Given the description of an element on the screen output the (x, y) to click on. 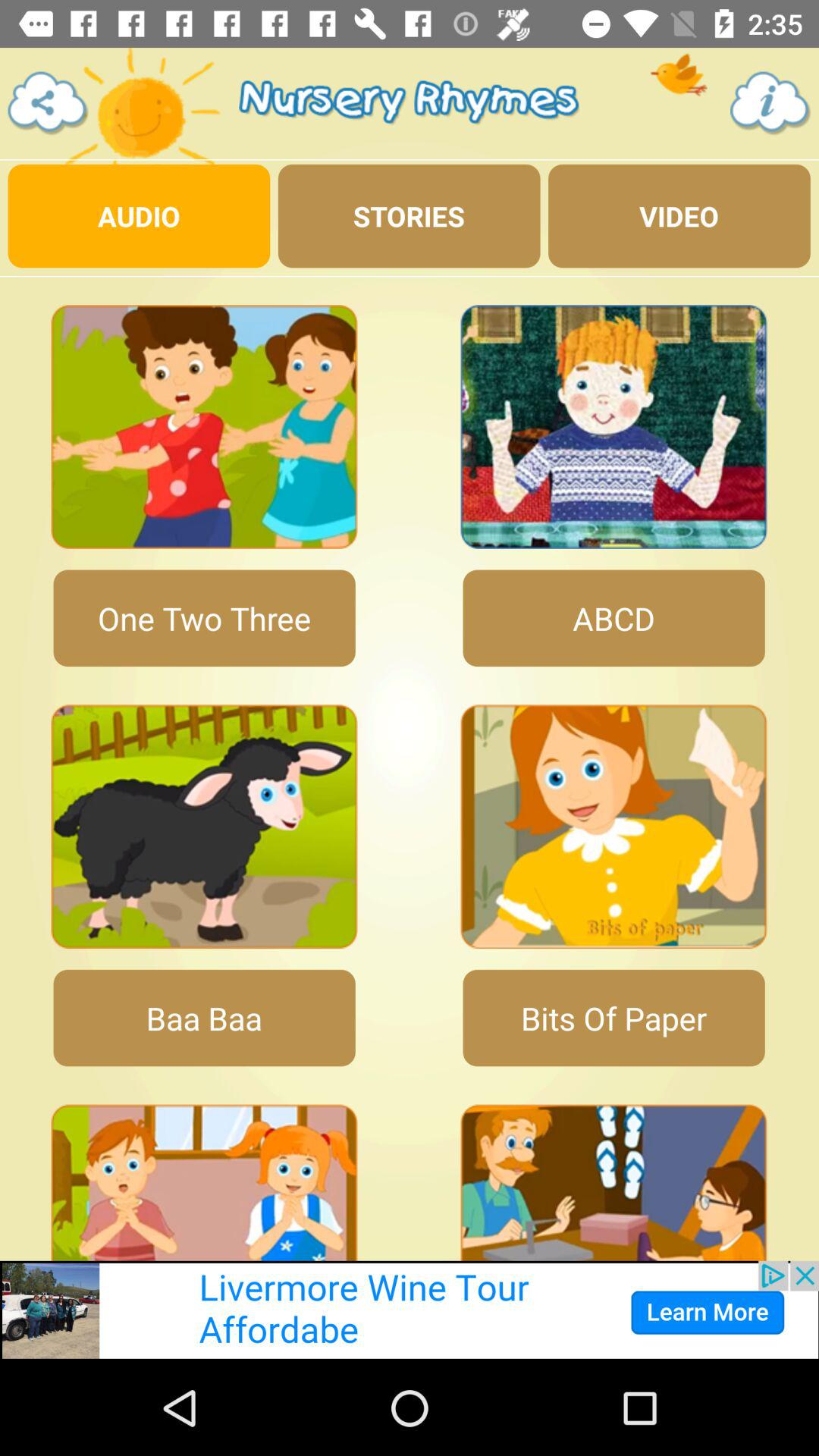
open menu (47, 103)
